Given the description of an element on the screen output the (x, y) to click on. 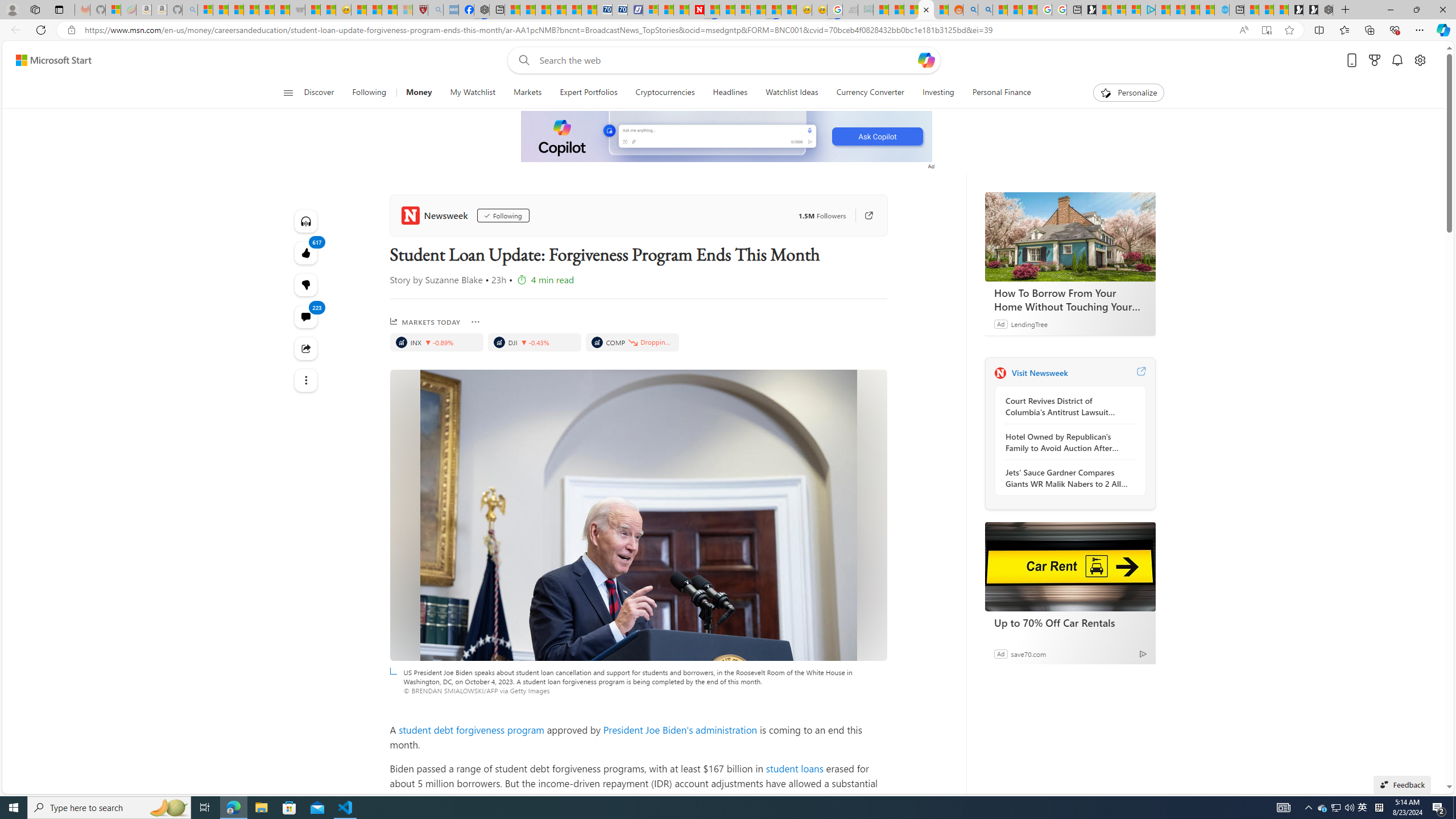
Currency Converter (869, 92)
save70.com (1027, 653)
Headlines (730, 92)
Price decrease (632, 342)
